Given the description of an element on the screen output the (x, y) to click on. 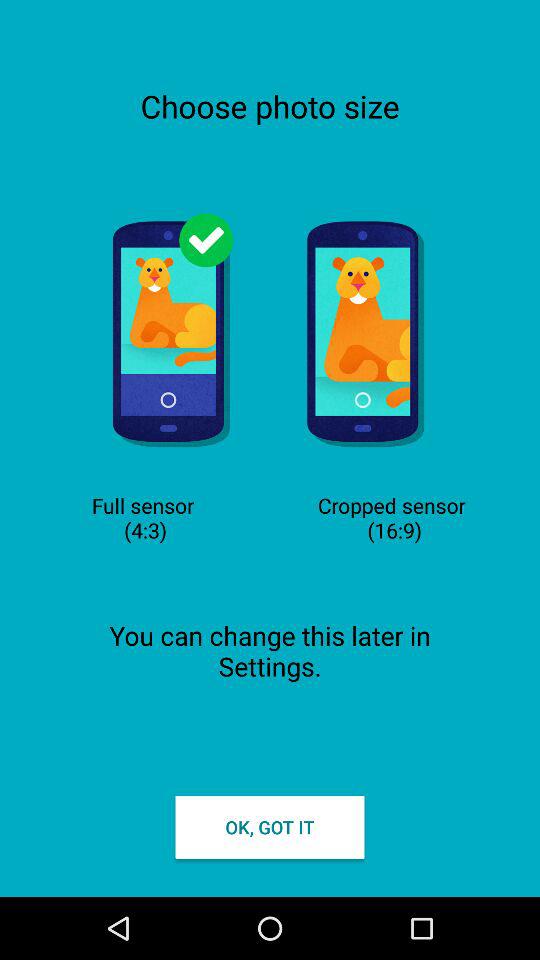
click the ok, got it item (269, 826)
